Given the description of an element on the screen output the (x, y) to click on. 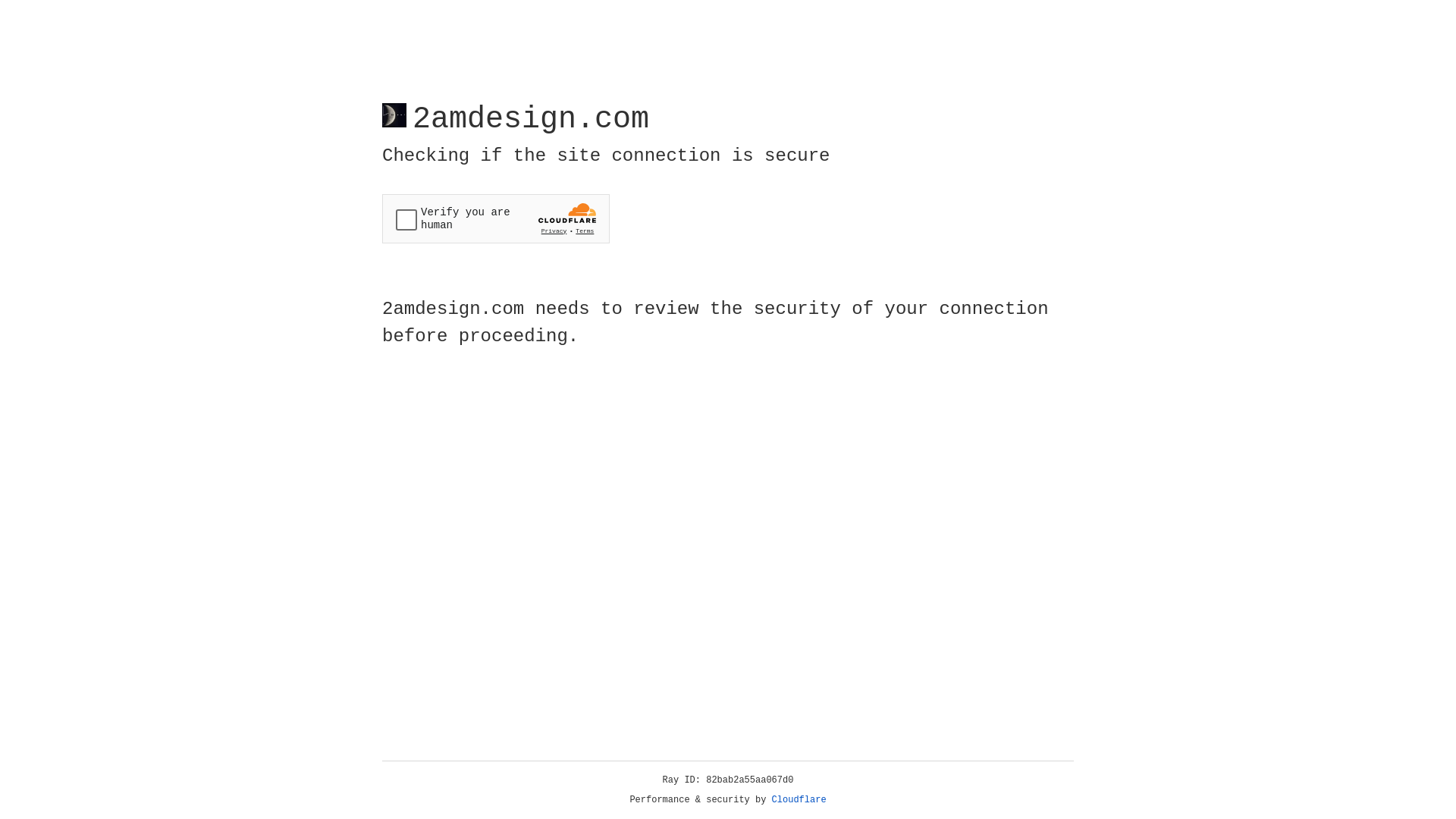
Widget containing a Cloudflare security challenge Element type: hover (495, 218)
Cloudflare Element type: text (798, 799)
